Given the description of an element on the screen output the (x, y) to click on. 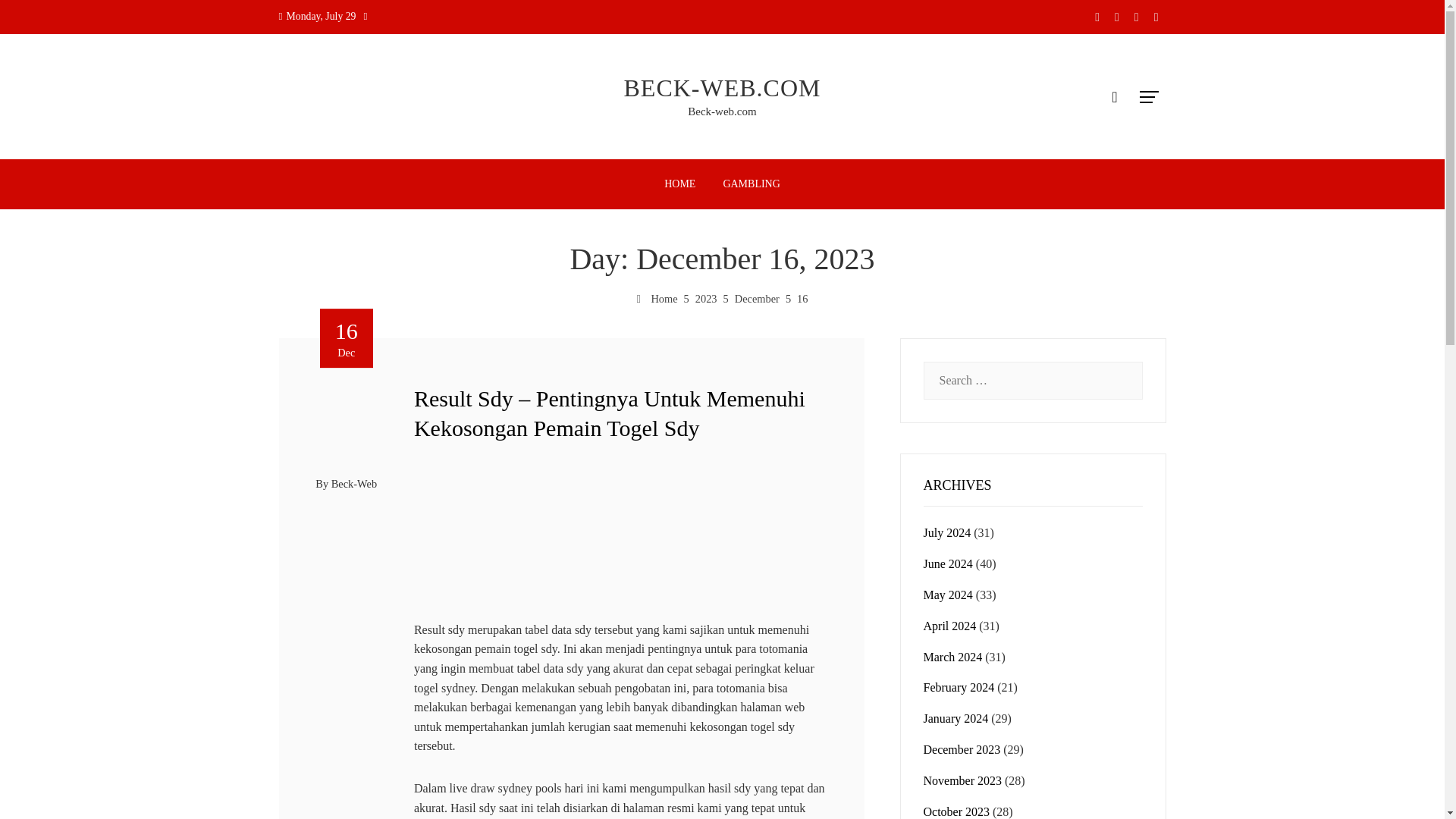
Beck-web.com (721, 111)
March 2024 (952, 656)
November 2023 (963, 780)
GAMBLING (750, 183)
July 2024 (947, 532)
2023 (706, 298)
Beck-Web (354, 483)
May 2024 (947, 594)
Home (657, 298)
HOME (679, 183)
October 2023 (956, 811)
BECK-WEB.COM (722, 87)
April 2024 (949, 625)
December 2023 (962, 748)
June 2024 (947, 563)
